Given the description of an element on the screen output the (x, y) to click on. 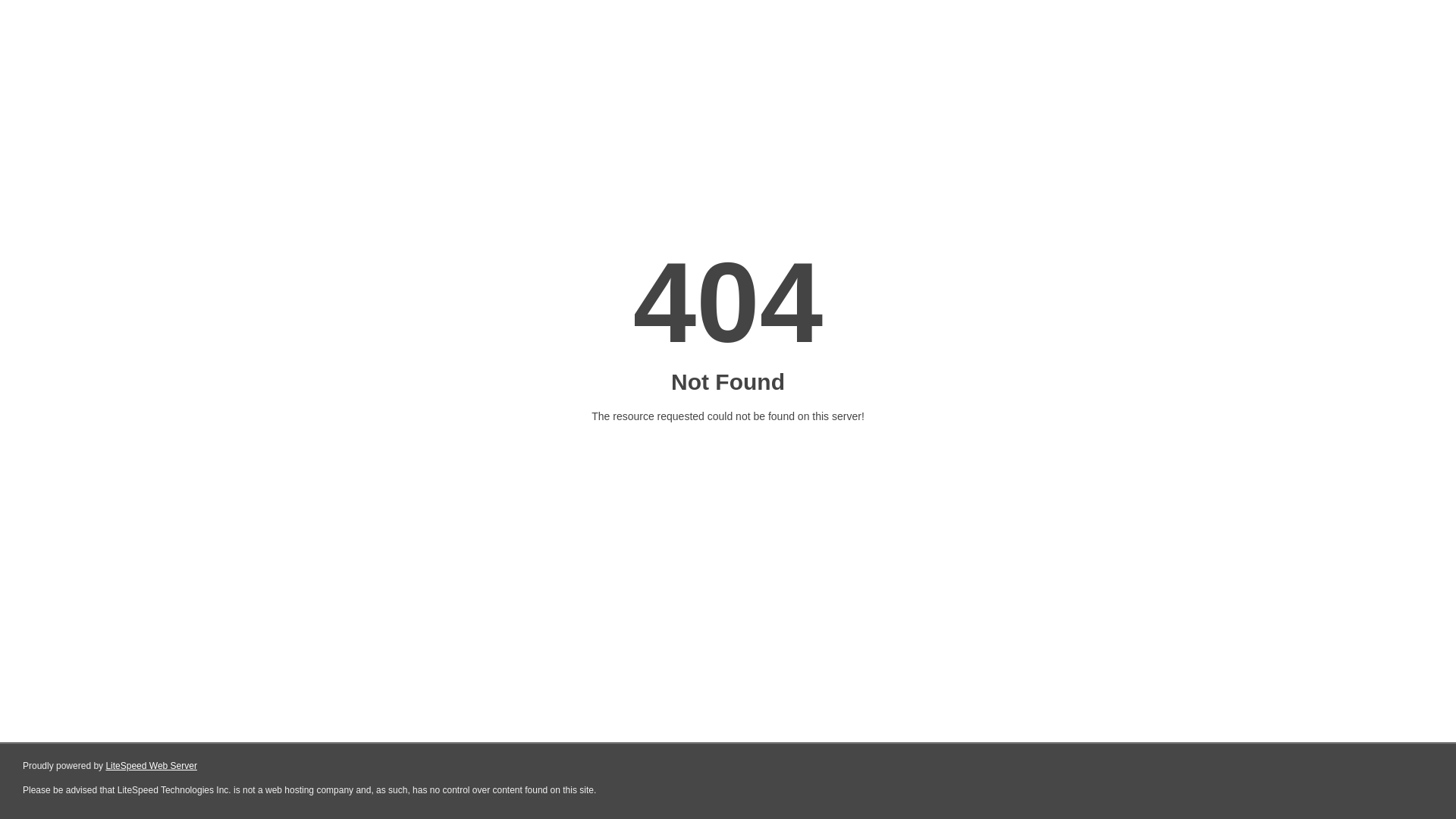
LiteSpeed Web Server Element type: text (151, 765)
